Given the description of an element on the screen output the (x, y) to click on. 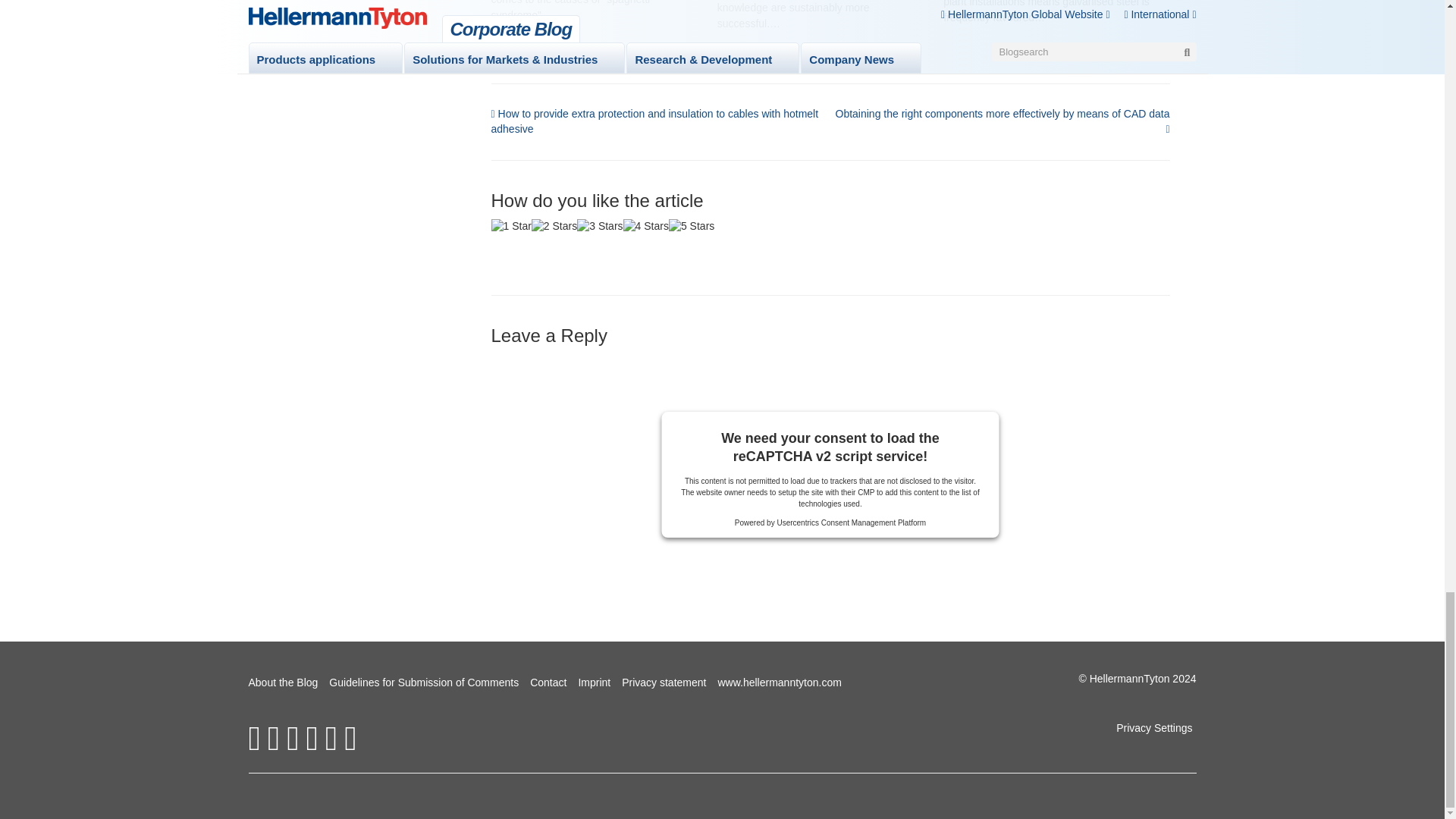
2 Stars (553, 226)
5 Stars (691, 226)
3 Stars (599, 226)
4 Stars (645, 226)
1 Star (511, 226)
